Given the description of an element on the screen output the (x, y) to click on. 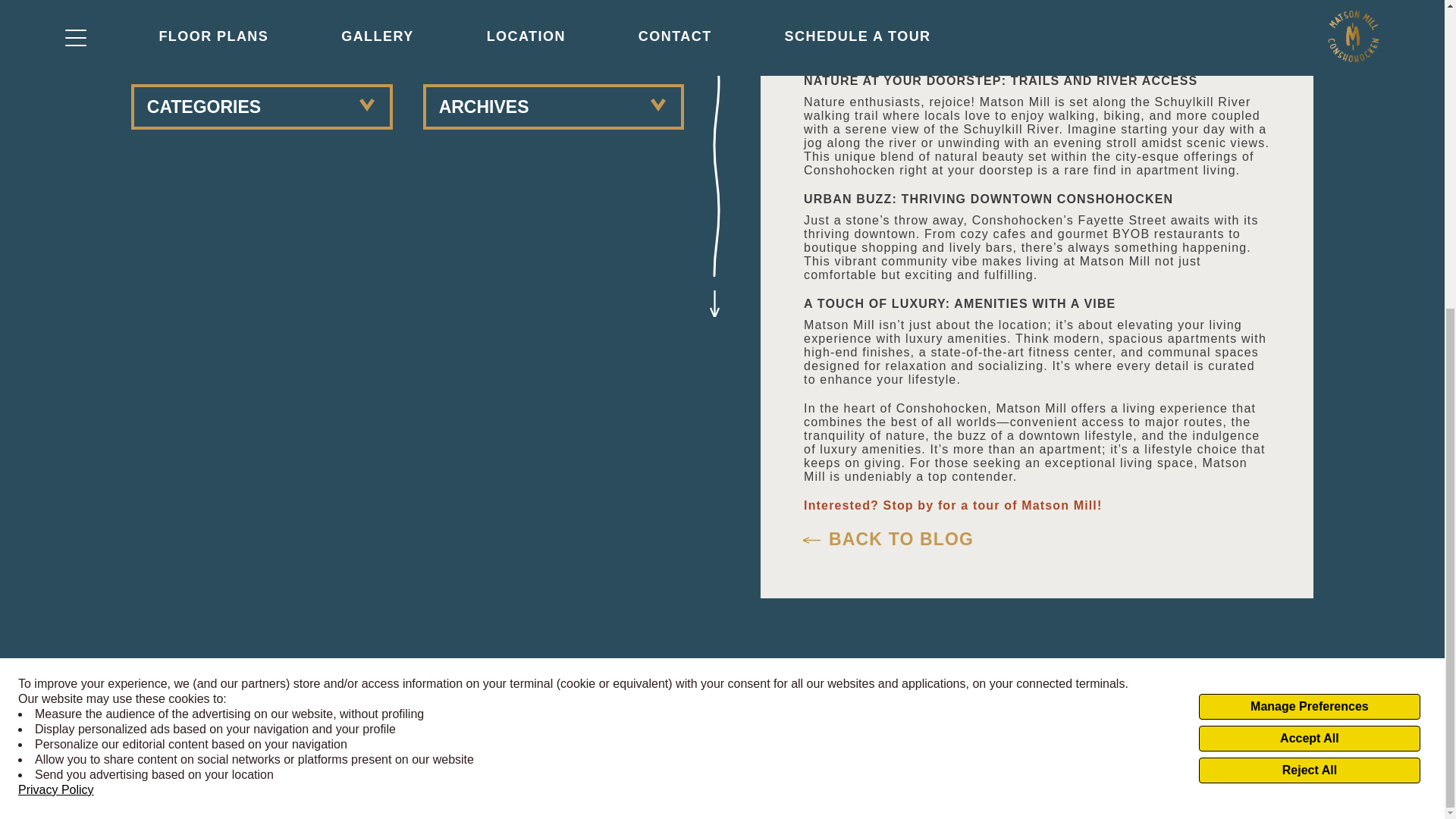
Accept All (1309, 249)
Manage Preferences (1309, 217)
CATEGORIES (262, 106)
ARCHIVES (553, 106)
Privacy Policy (55, 301)
Reject All (1309, 281)
